Given the description of an element on the screen output the (x, y) to click on. 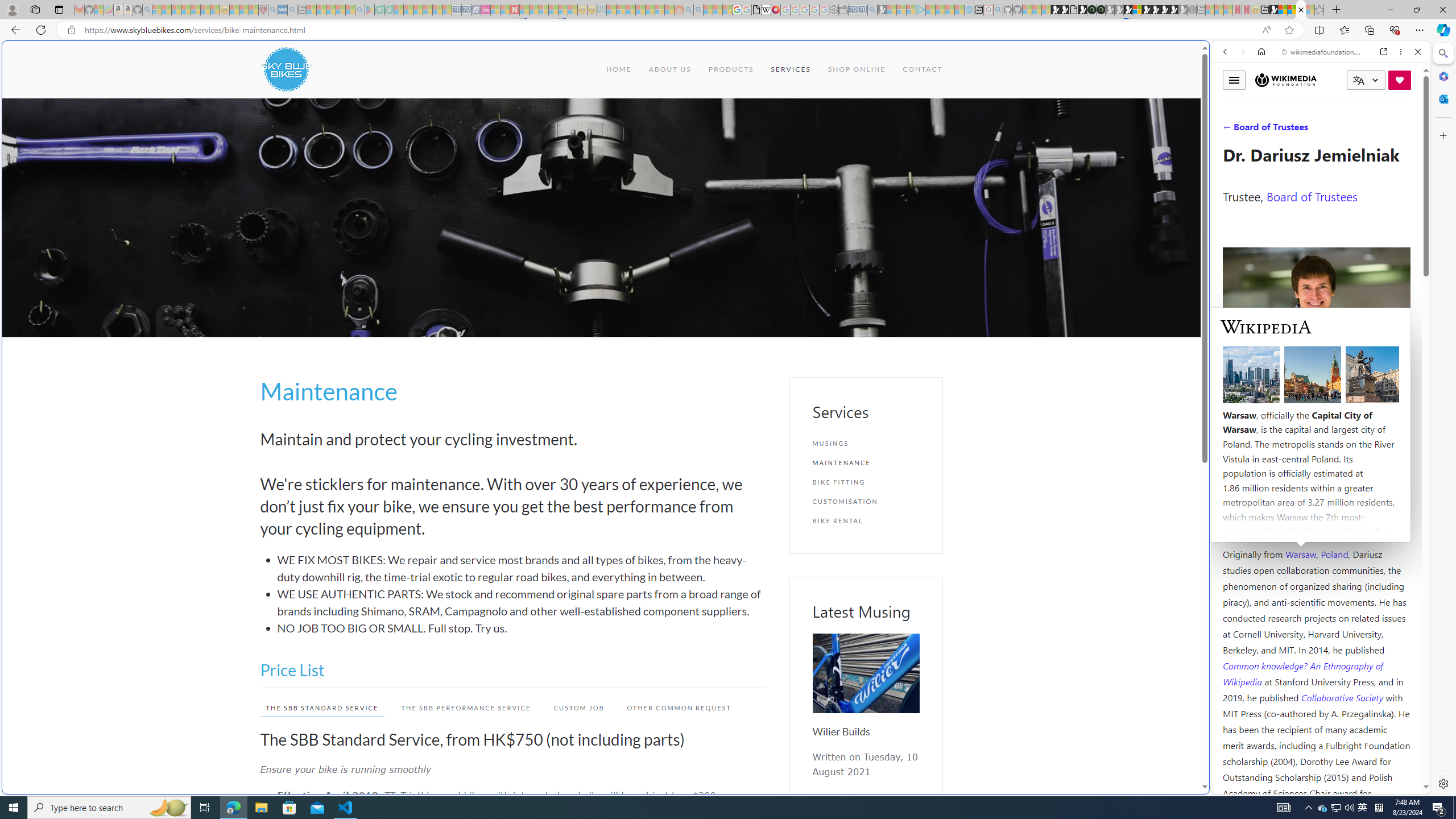
Settings - Sleeping (833, 9)
NCL Adult Asthma Inhaler Choice Guideline - Sleeping (282, 9)
New tab - Sleeping (1200, 9)
Toggle menu (1233, 80)
Kozminski University (1316, 486)
utah sues federal government - Search (922, 389)
CUSTOMISATION (865, 501)
